Given the description of an element on the screen output the (x, y) to click on. 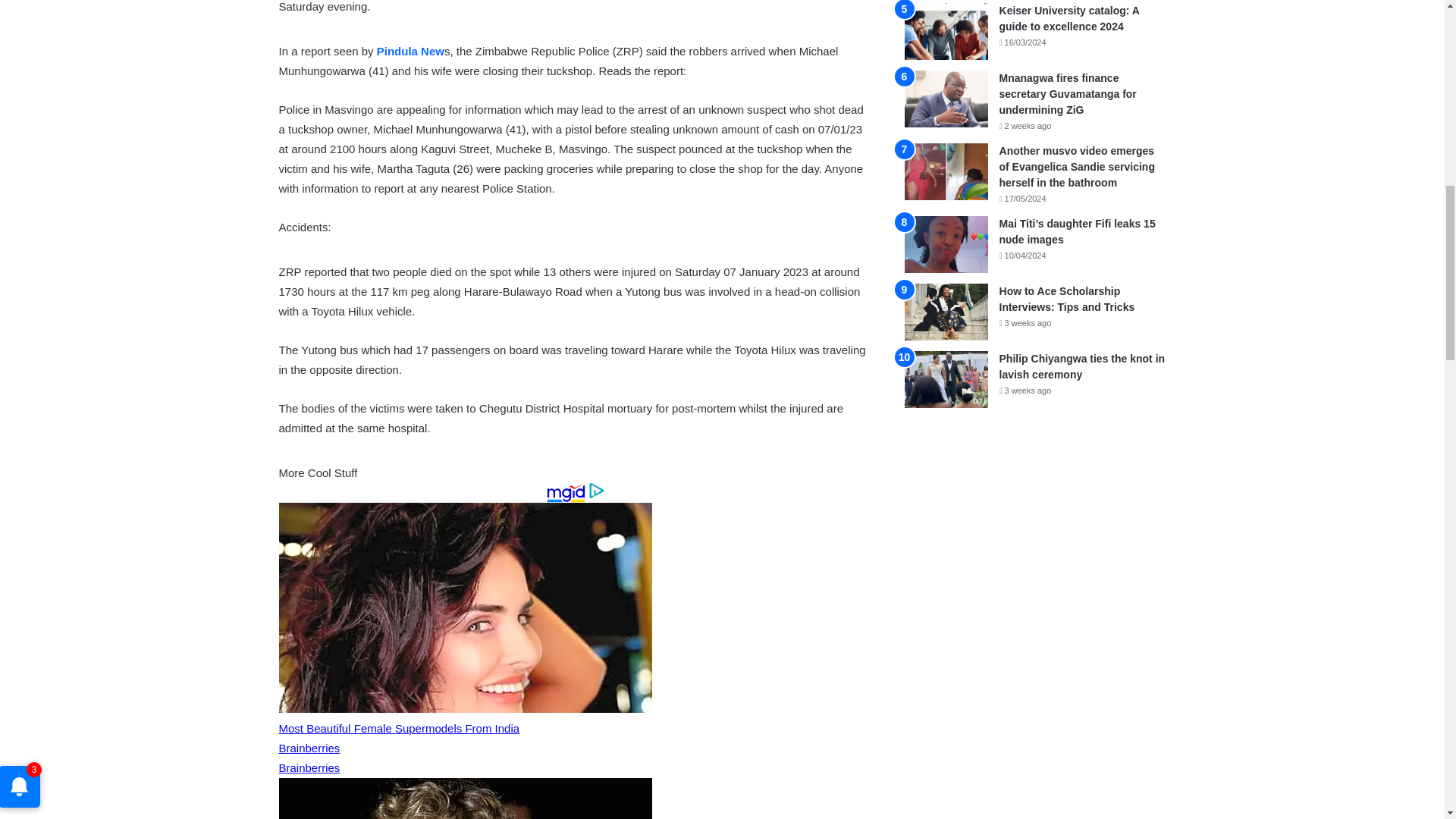
Pindula New (410, 51)
